Given the description of an element on the screen output the (x, y) to click on. 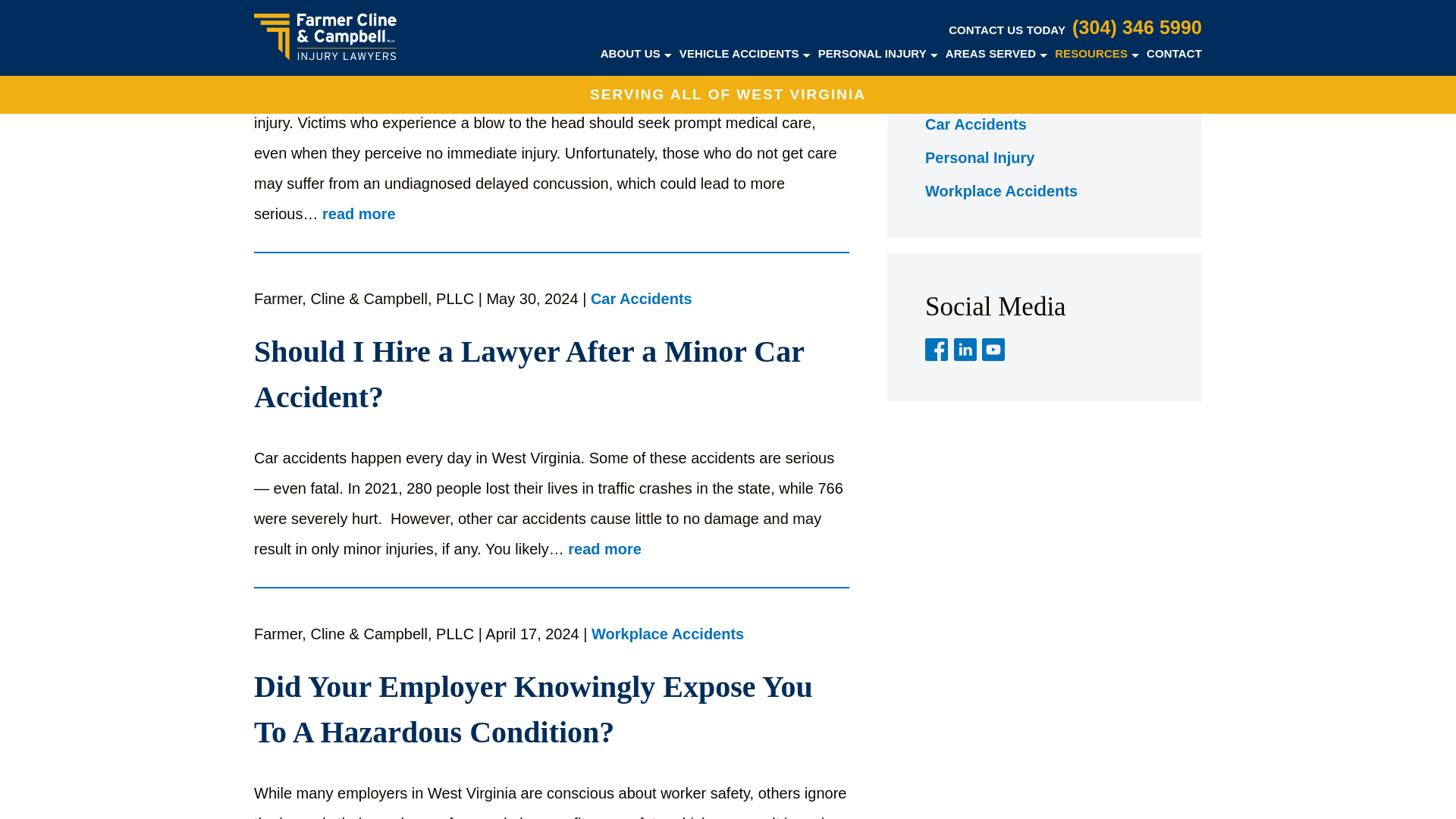
read more (358, 214)
Should I Hire a Lawyer After a Minor Car Accident? (550, 374)
Workplace Accidents (667, 634)
read more (604, 549)
Delayed Concussion Symptoms (550, 31)
Car Accidents (642, 299)
